Given the description of an element on the screen output the (x, y) to click on. 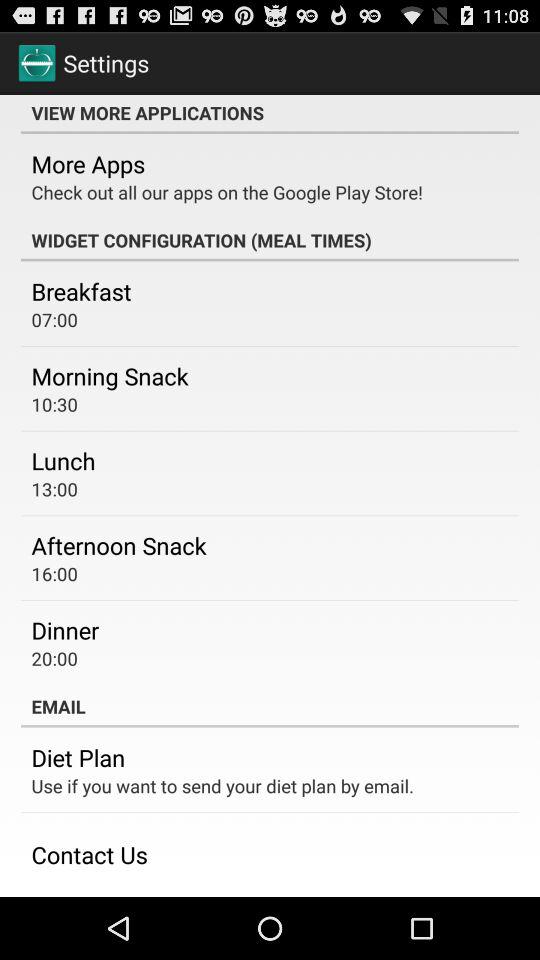
click app above 10:30 item (109, 375)
